Given the description of an element on the screen output the (x, y) to click on. 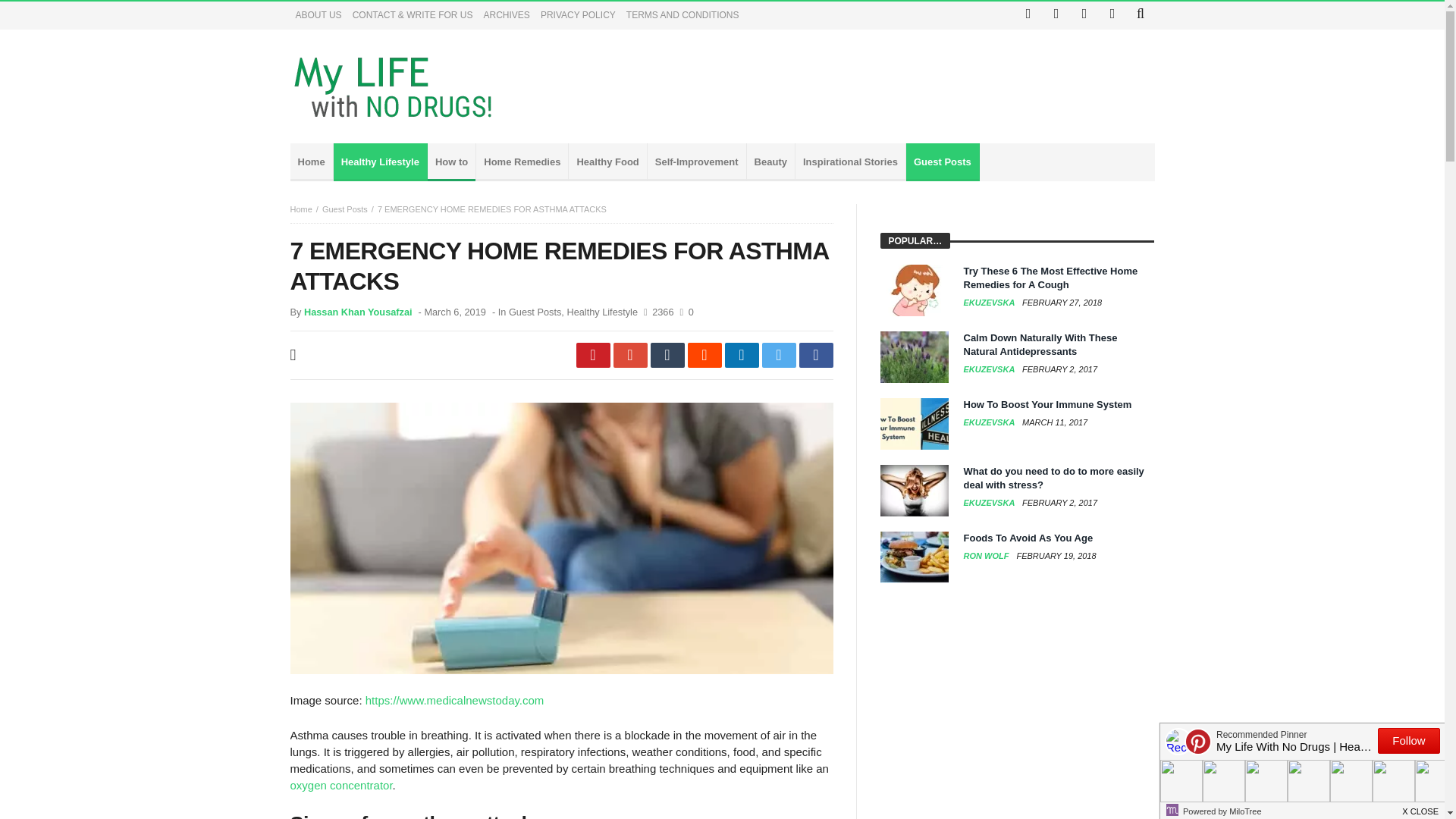
TERMS AND CONDITIONS (682, 15)
Healthy Lifestyle (380, 161)
ABOUT US (318, 15)
Home (311, 161)
Facebook (1028, 15)
instagram (1111, 15)
Home Remedies (522, 161)
Pinterest (1084, 15)
facebook (815, 355)
Twitter (1056, 15)
google (629, 355)
ARCHIVES (506, 15)
How to (452, 161)
reddit (703, 355)
twitter (777, 355)
